Given the description of an element on the screen output the (x, y) to click on. 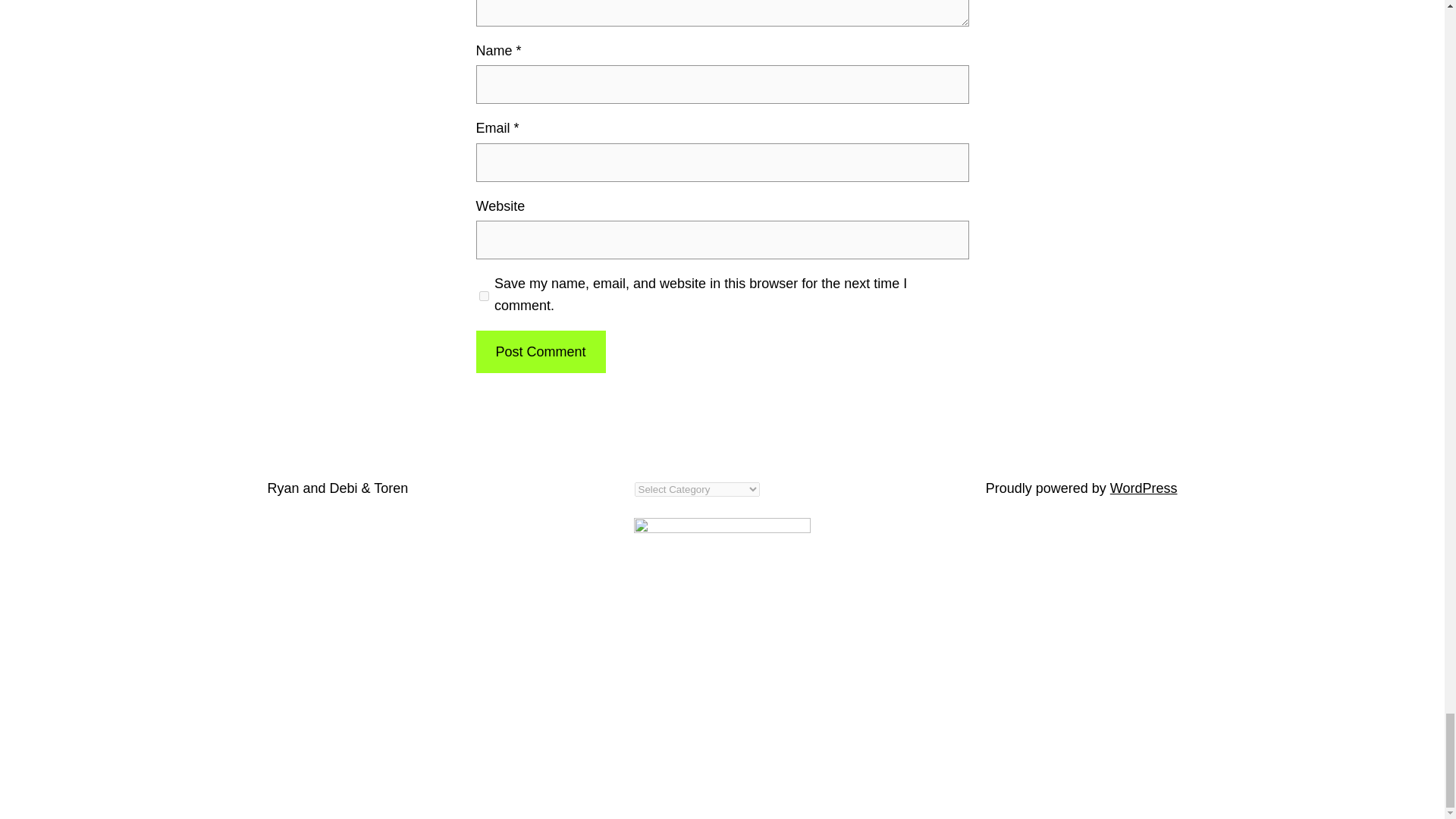
WordPress (1143, 488)
Post Comment (540, 351)
Post Comment (540, 351)
